Given the description of an element on the screen output the (x, y) to click on. 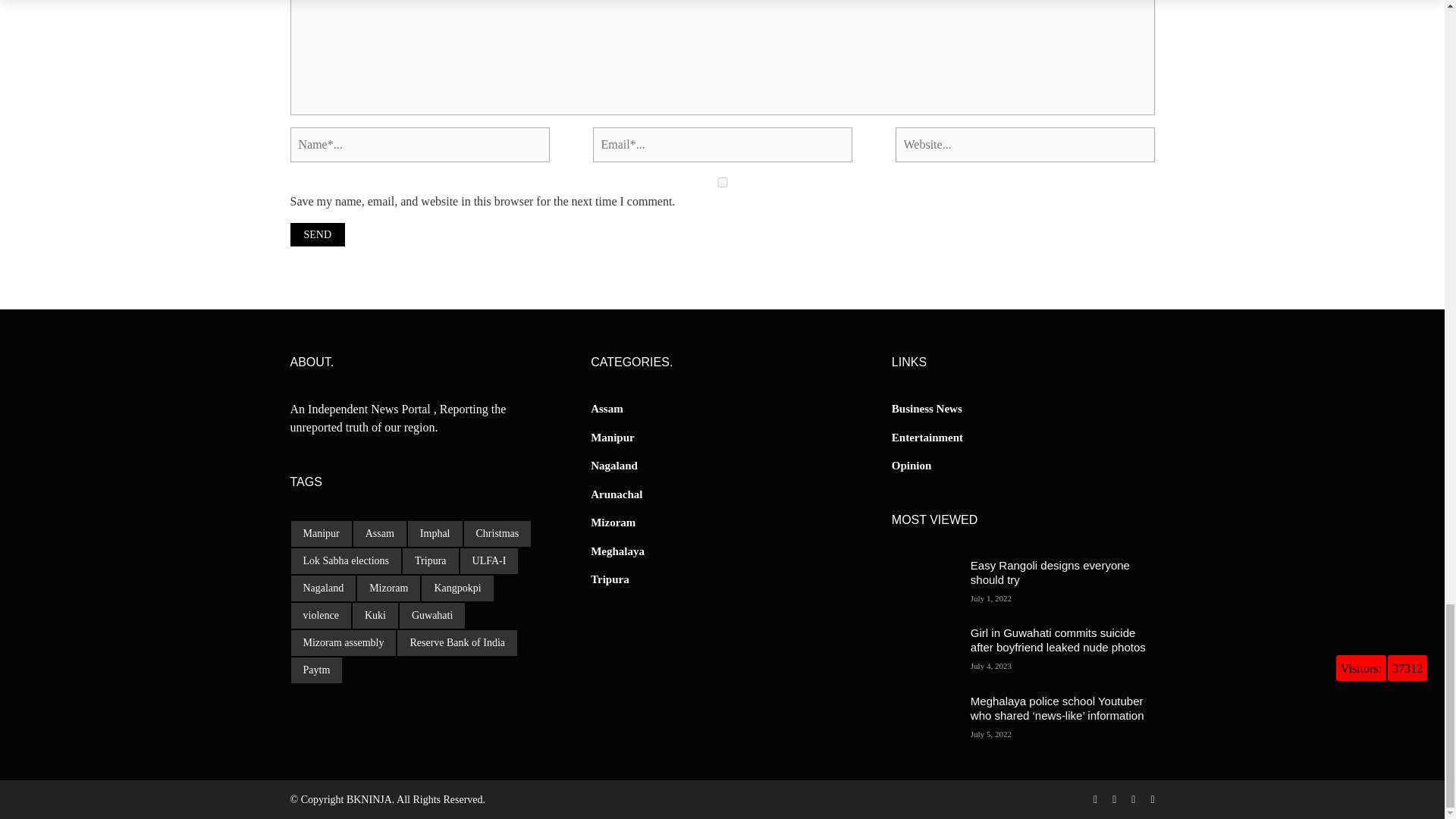
yes (721, 182)
Send (317, 234)
